Given the description of an element on the screen output the (x, y) to click on. 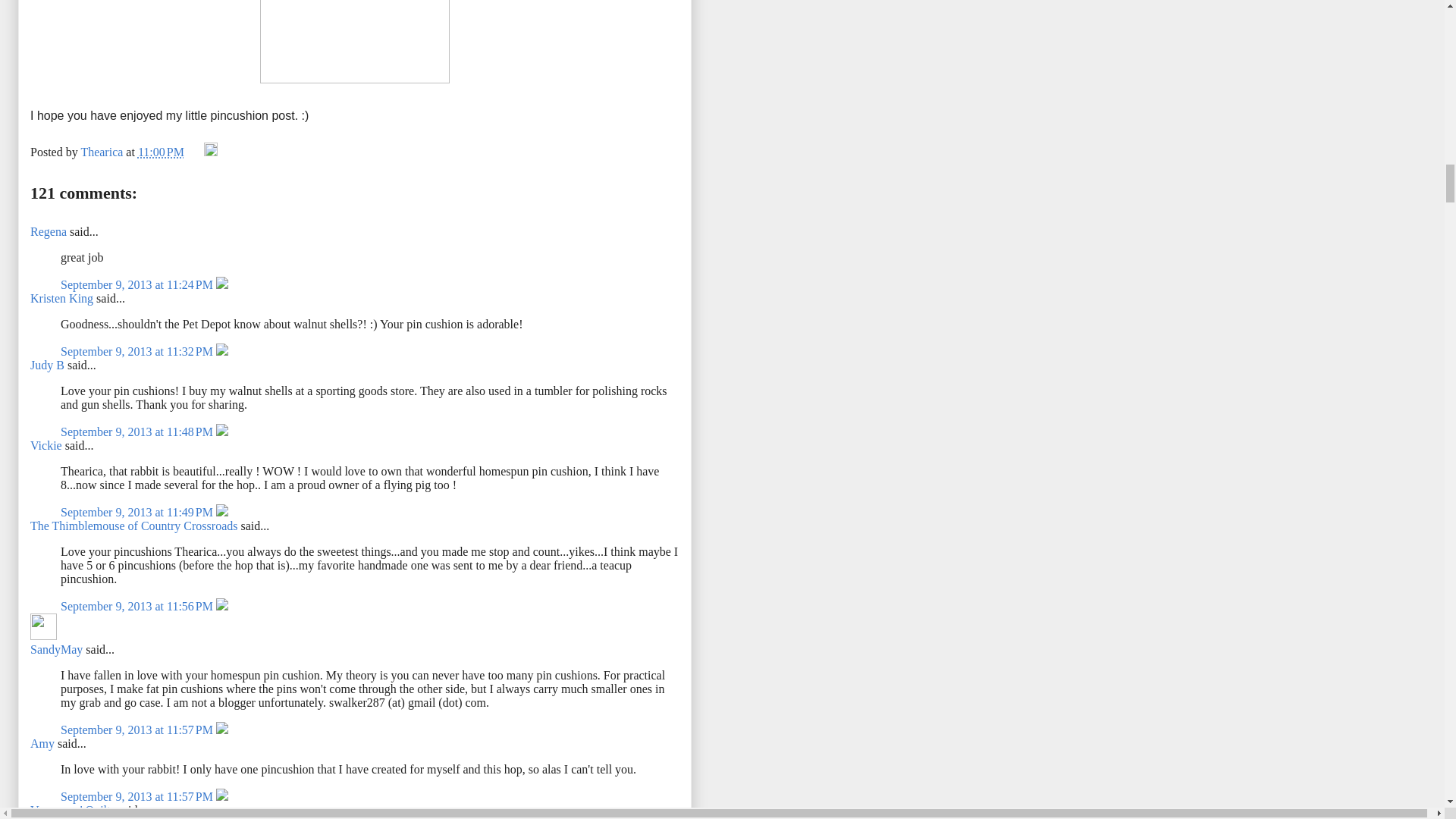
comment permalink (138, 431)
Regena (48, 231)
Vickie (46, 445)
Edit Post (209, 151)
Delete Comment (221, 284)
Thearica (102, 151)
author profile (102, 151)
comment permalink (138, 284)
permanent link (161, 151)
Judy B (47, 364)
Delete Comment (221, 431)
Email Post (195, 151)
